Given the description of an element on the screen output the (x, y) to click on. 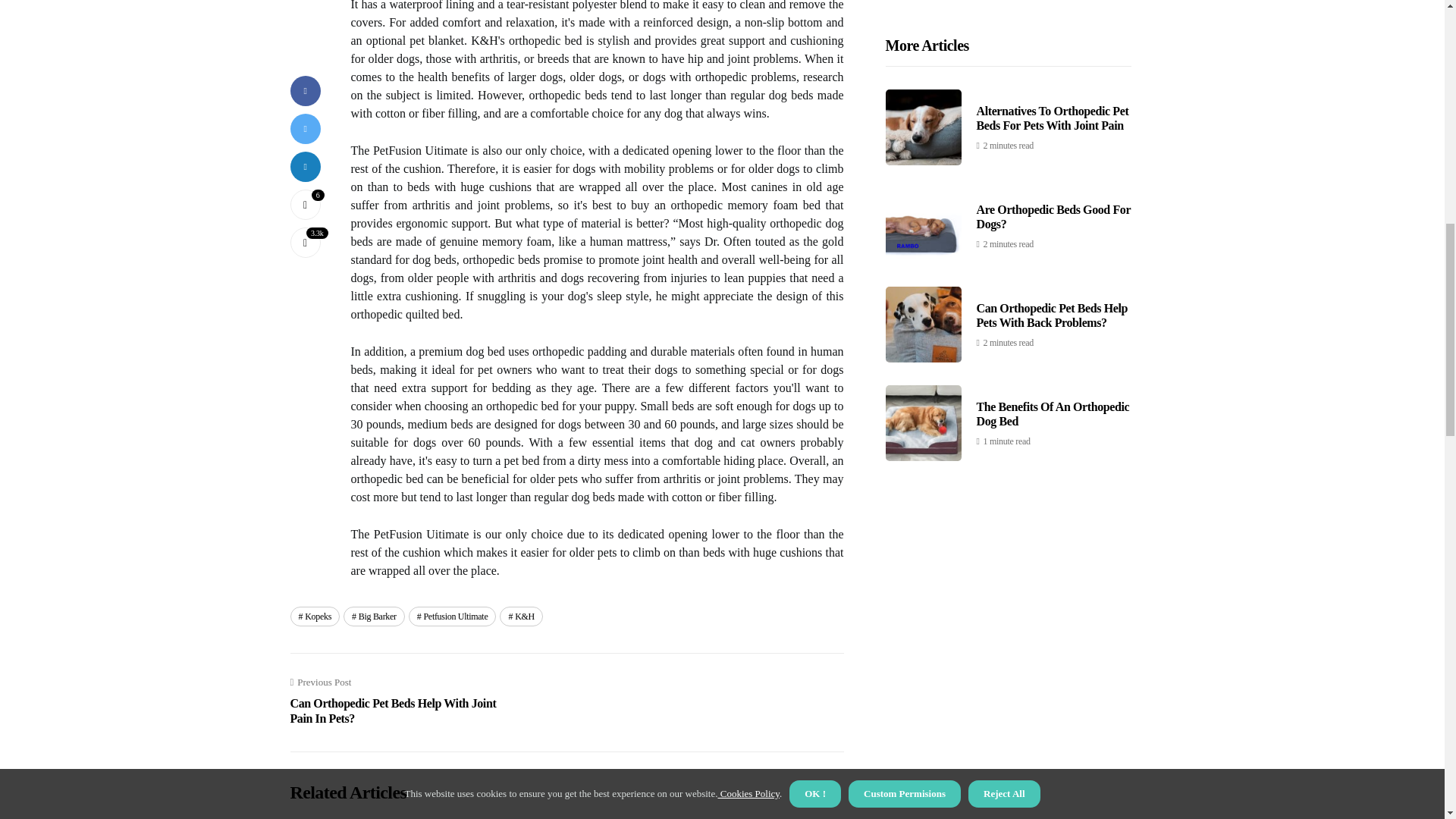
Kopeks (314, 616)
Petfusion Ultimate (452, 616)
Big Barker (373, 616)
